Given the description of an element on the screen output the (x, y) to click on. 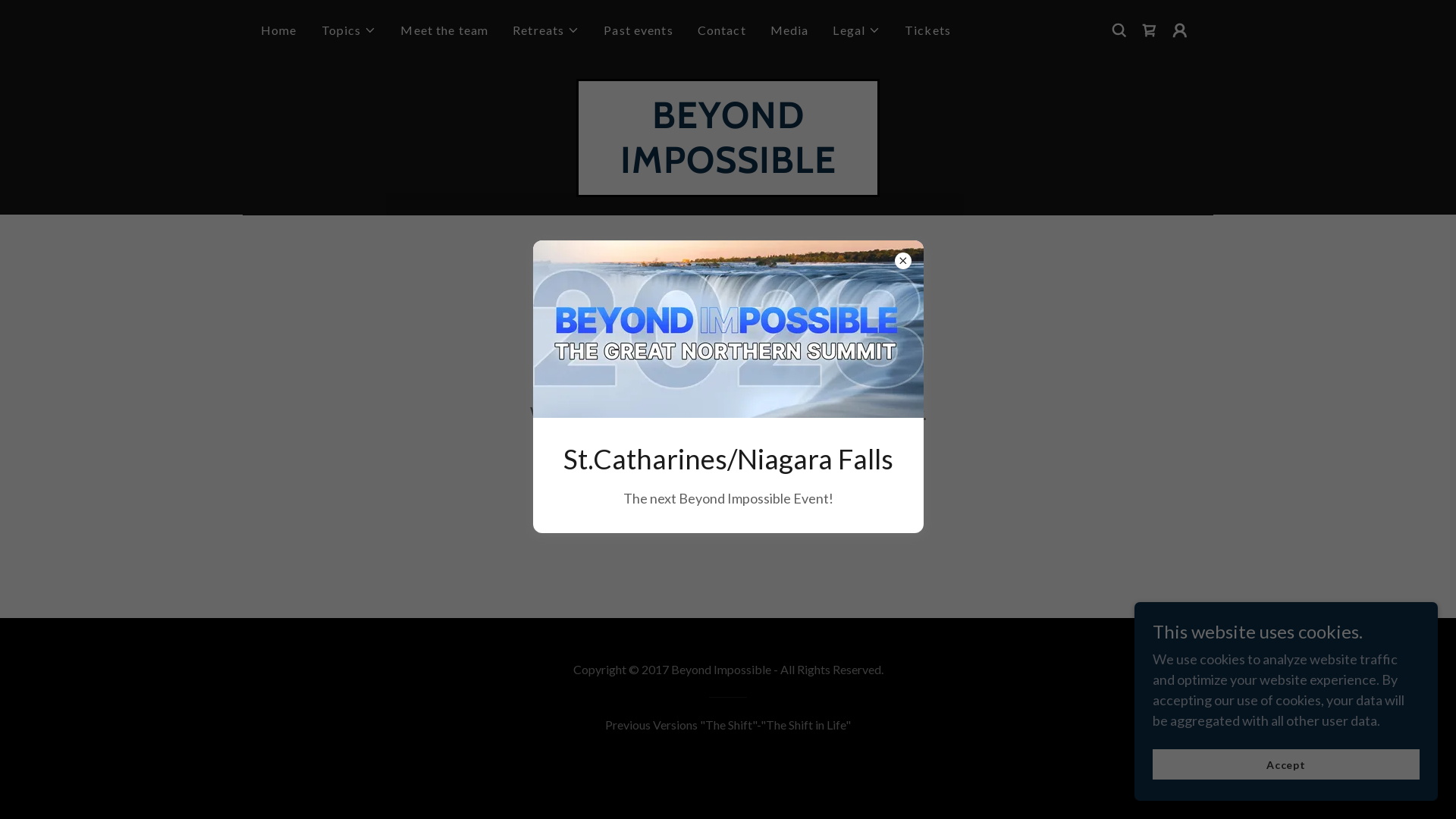
Topics Element type: text (348, 30)
Tickets Element type: text (927, 29)
BEYOND IMPOSSIBLE Element type: text (727, 167)
Contact Element type: text (721, 29)
Home Element type: text (278, 29)
Meet the team Element type: text (443, 29)
Media Element type: text (789, 29)
Past events Element type: text (638, 29)
Accept Element type: text (1285, 764)
Retreats Element type: text (545, 30)
Go To Home Page Element type: text (727, 472)
Legal Element type: text (856, 30)
